Given the description of an element on the screen output the (x, y) to click on. 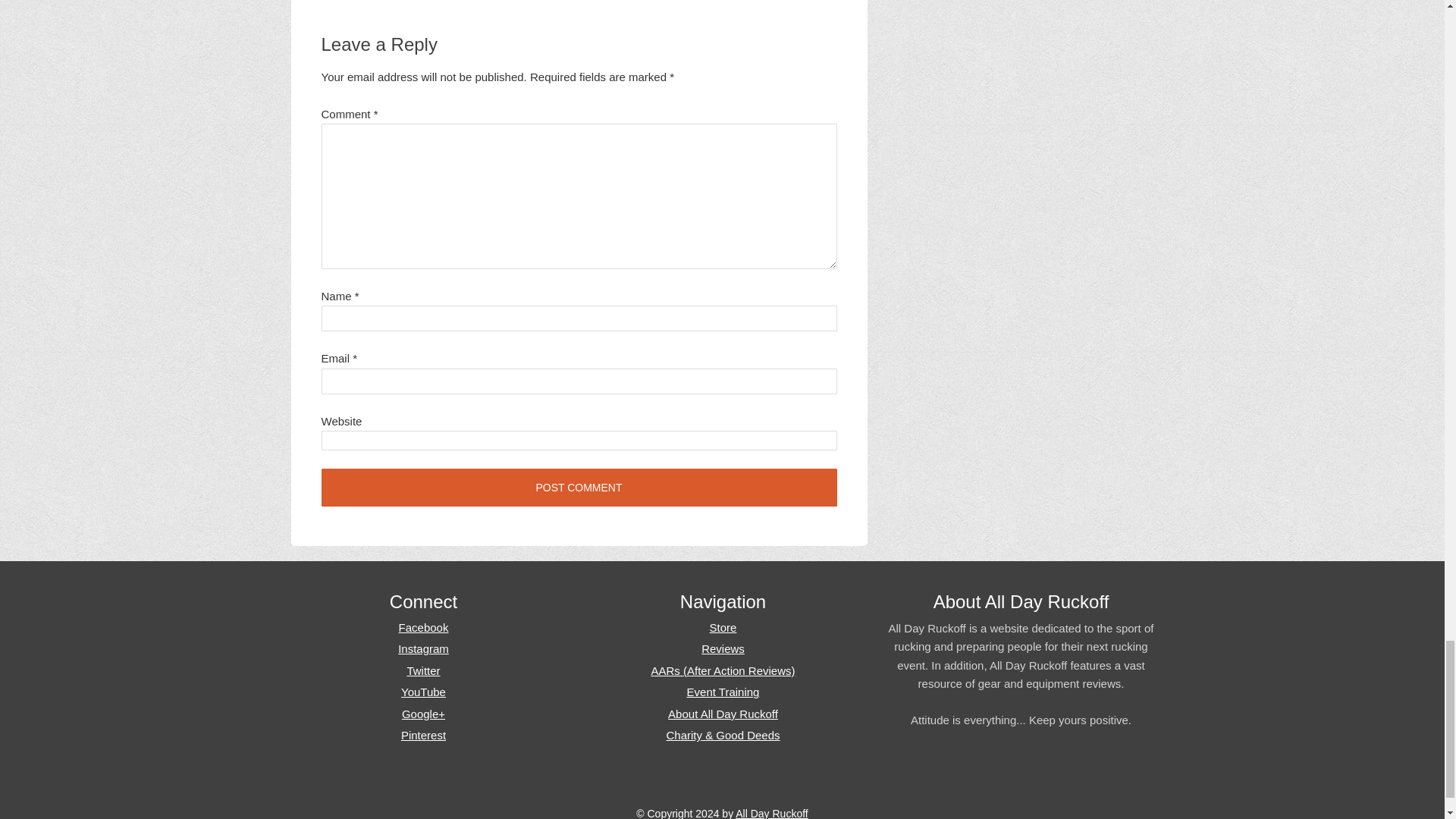
Post Comment (579, 487)
